Given the description of an element on the screen output the (x, y) to click on. 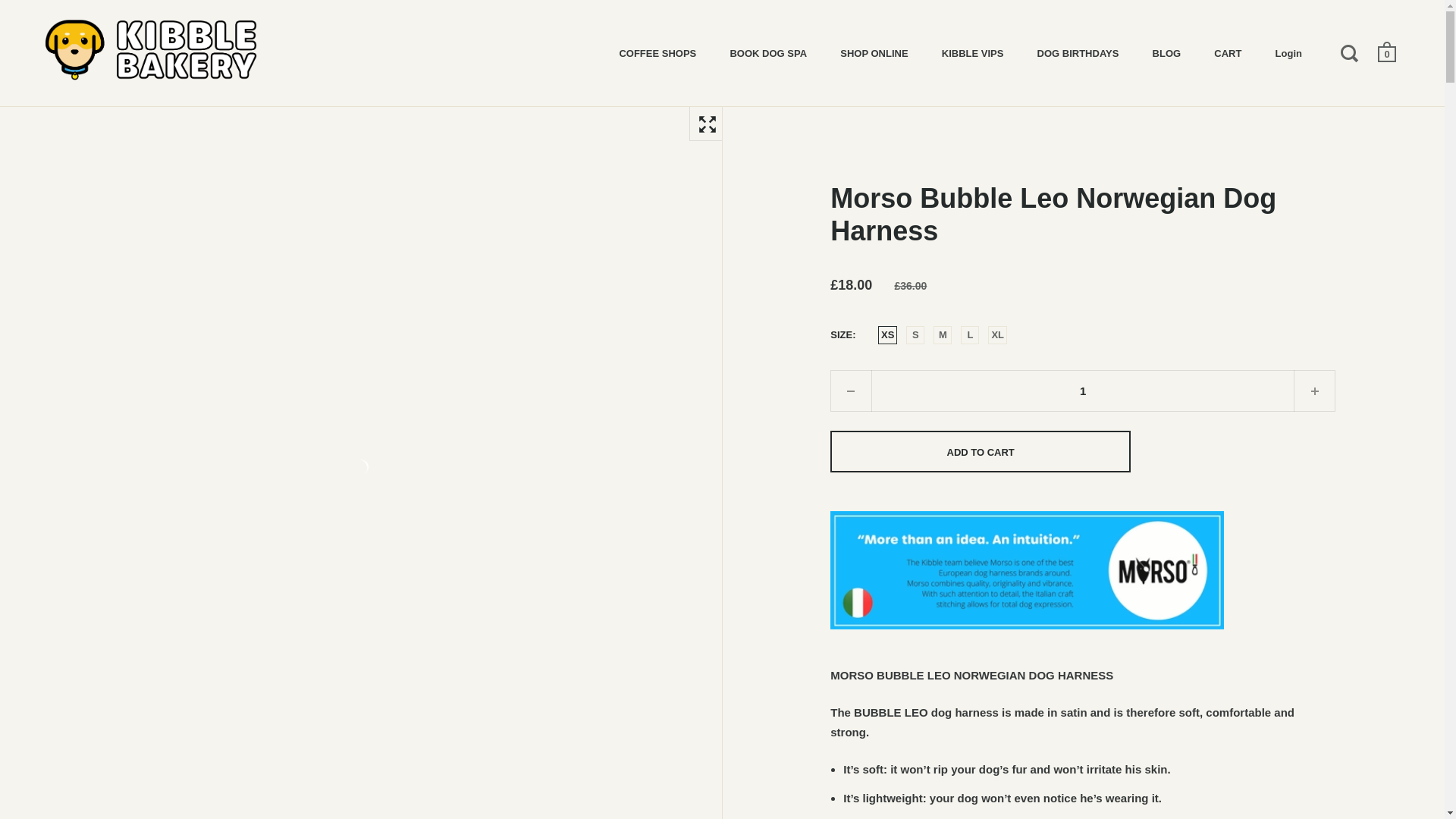
COFFEE SHOPS (657, 52)
1 (1082, 390)
SHOP ONLINE (874, 52)
ADD TO CART (980, 451)
CART (1227, 52)
BOOK DOG SPA (768, 52)
Open cart (1387, 51)
BLOG (1166, 52)
Login (1288, 52)
DOG BIRTHDAYS (1078, 52)
Zoom in (705, 123)
Open search (1350, 52)
KIBBLE VIPS (972, 52)
